Given the description of an element on the screen output the (x, y) to click on. 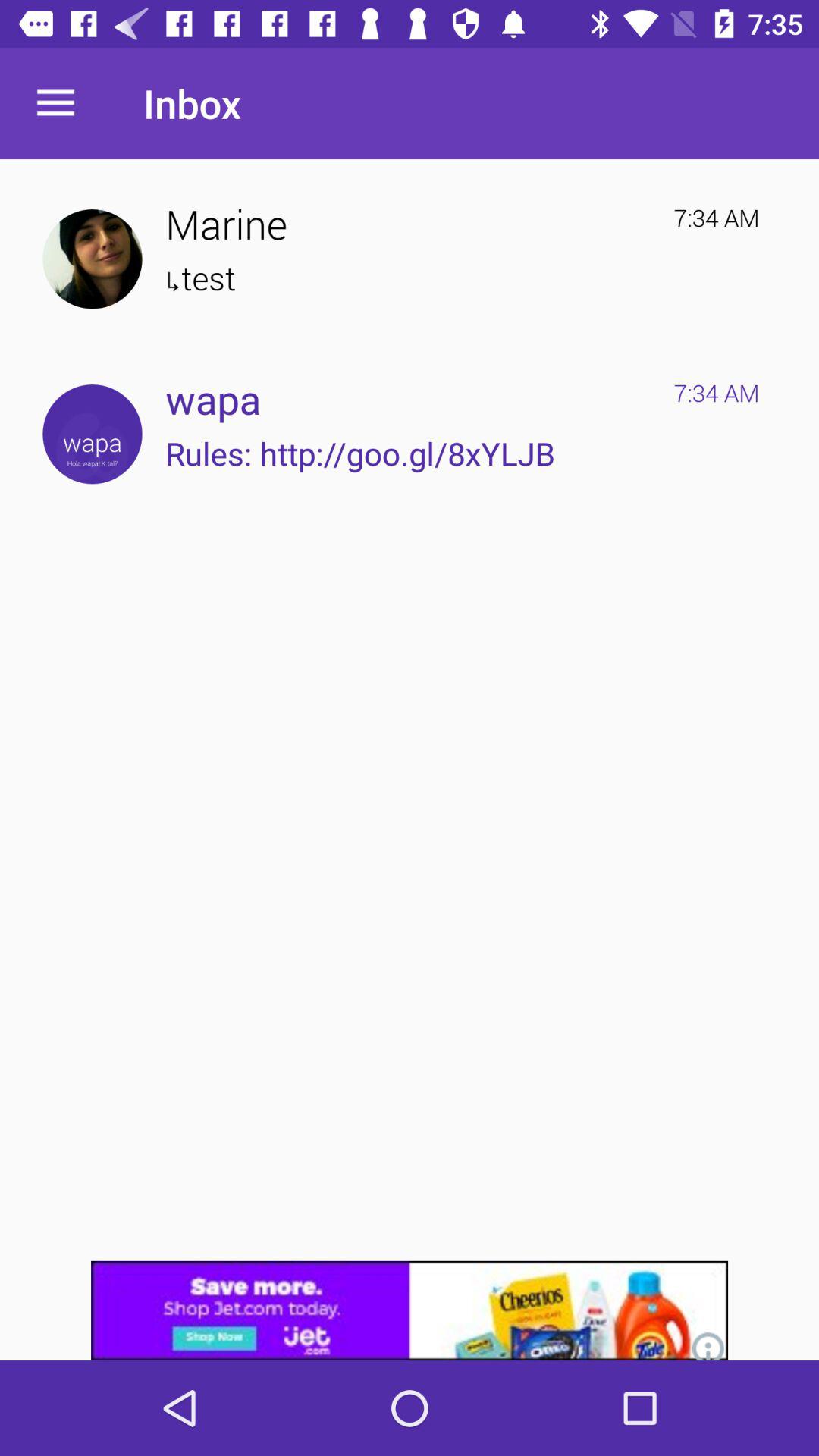
view blink advertisement (409, 1310)
